Given the description of an element on the screen output the (x, y) to click on. 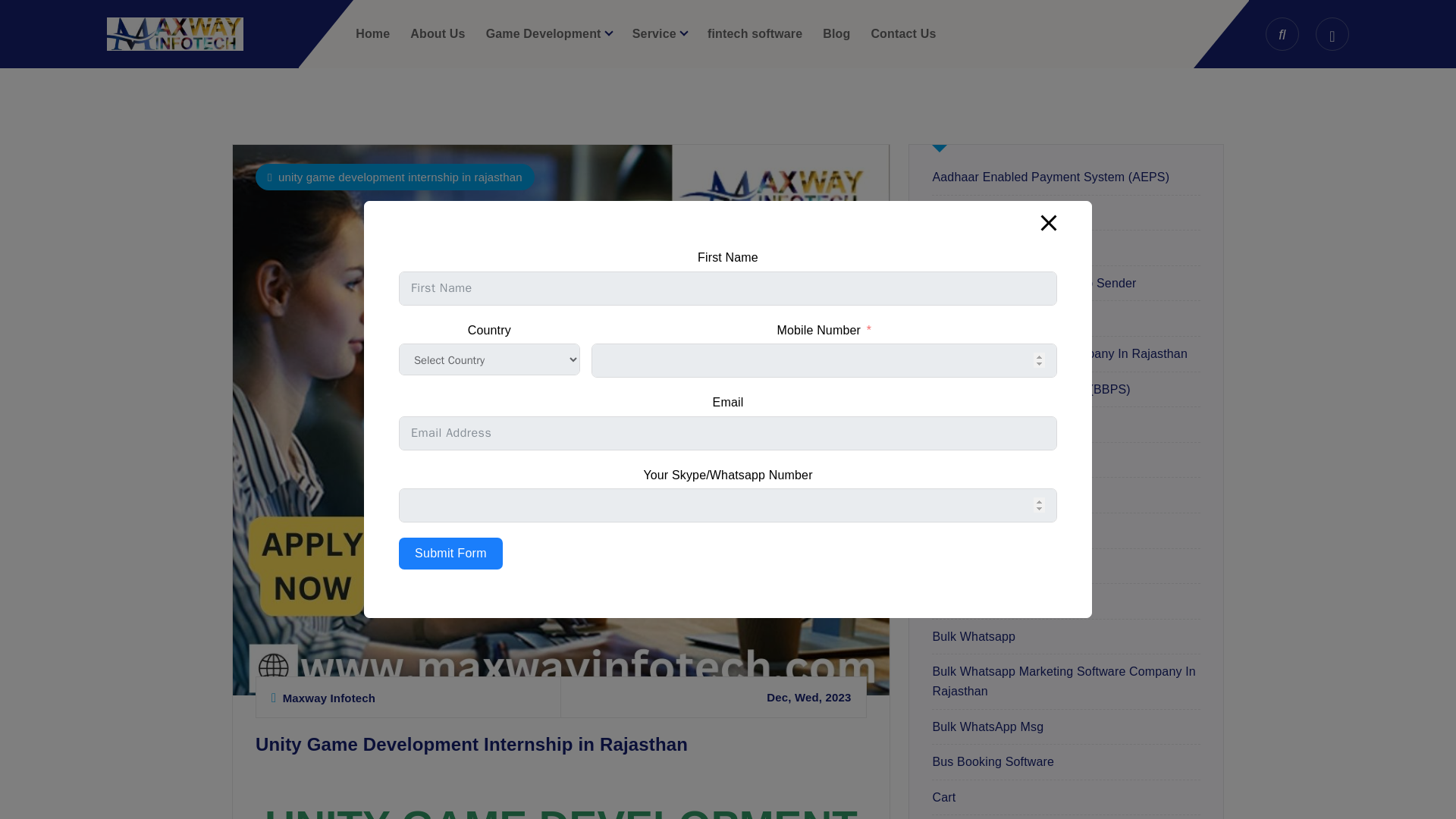
fintech software (754, 33)
Game Development (548, 33)
Home (372, 33)
About Us (437, 33)
Game Development (548, 33)
Contact Us (903, 33)
Blog (836, 33)
Service (659, 33)
Home (372, 33)
About Us (437, 33)
